Given the description of an element on the screen output the (x, y) to click on. 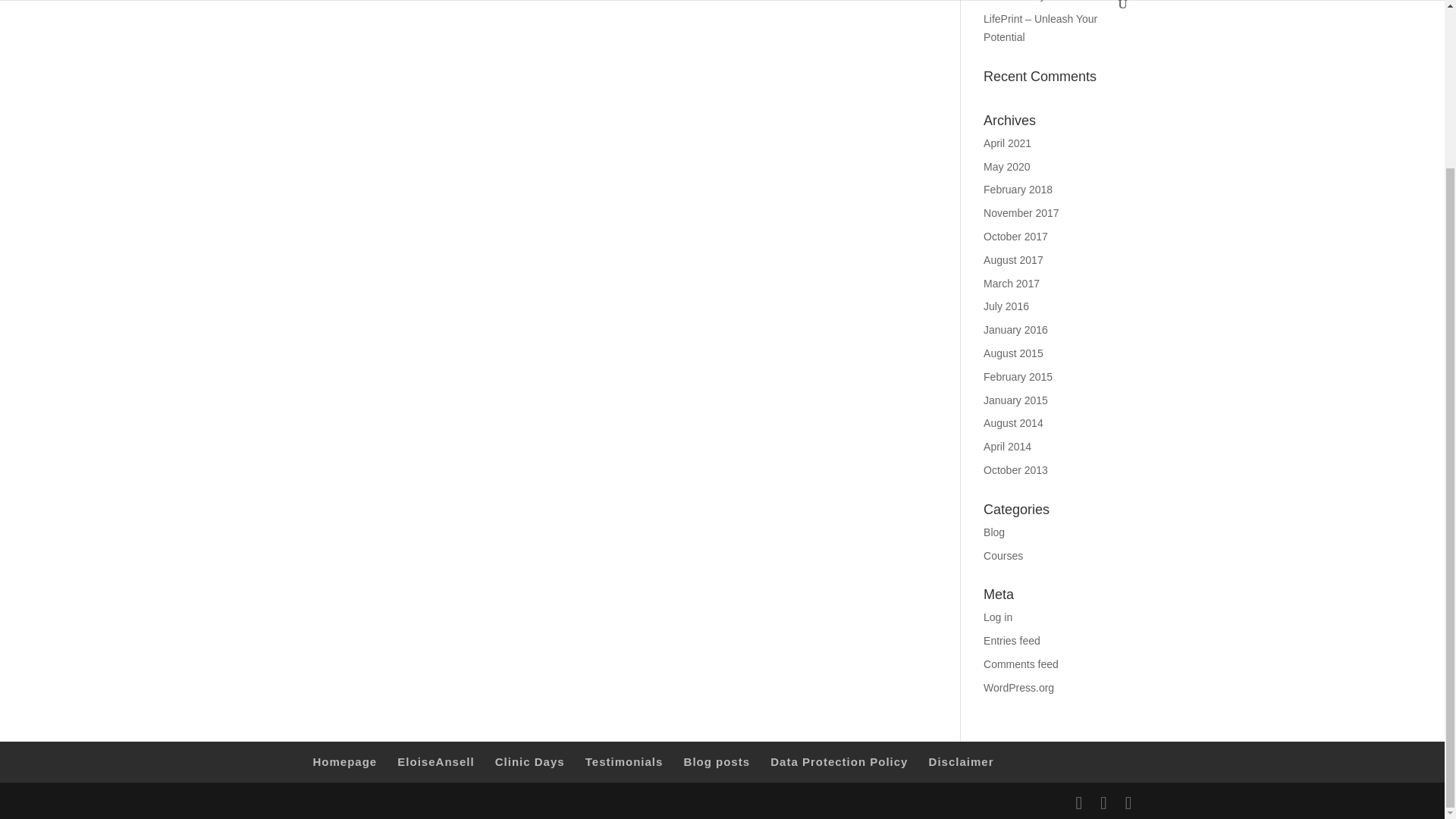
November 2017 (1021, 213)
August 2017 (1013, 259)
May 2020 (1006, 166)
April 2021 (1007, 143)
BioGeometry Class (1029, 0)
October 2017 (1016, 236)
February 2018 (1018, 189)
